Given the description of an element on the screen output the (x, y) to click on. 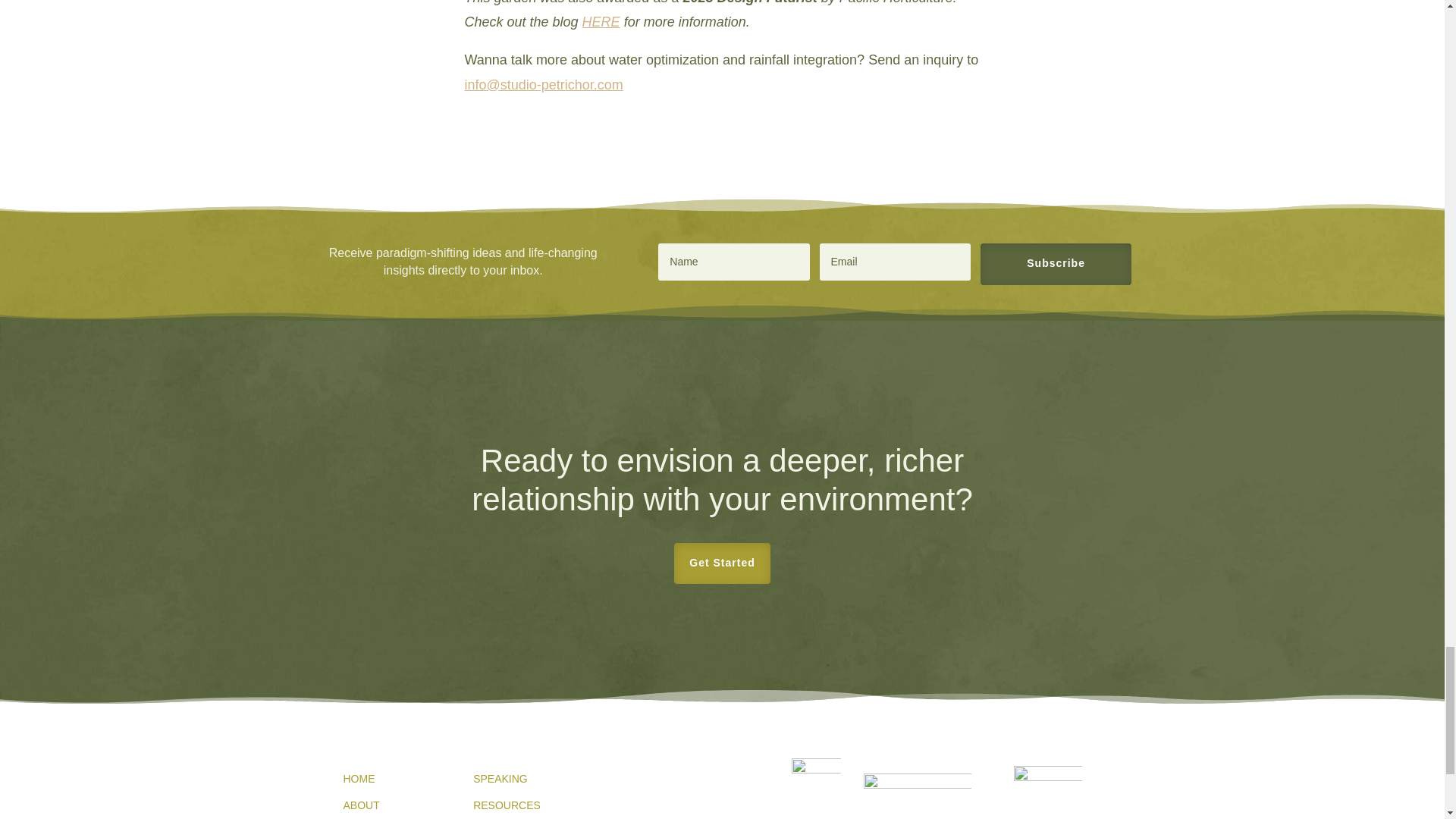
HOME (358, 778)
HERE (601, 21)
ABOUT (360, 805)
DesignFuturist (1047, 792)
Subscribe (1055, 264)
Get Started (722, 562)
